Given the description of an element on the screen output the (x, y) to click on. 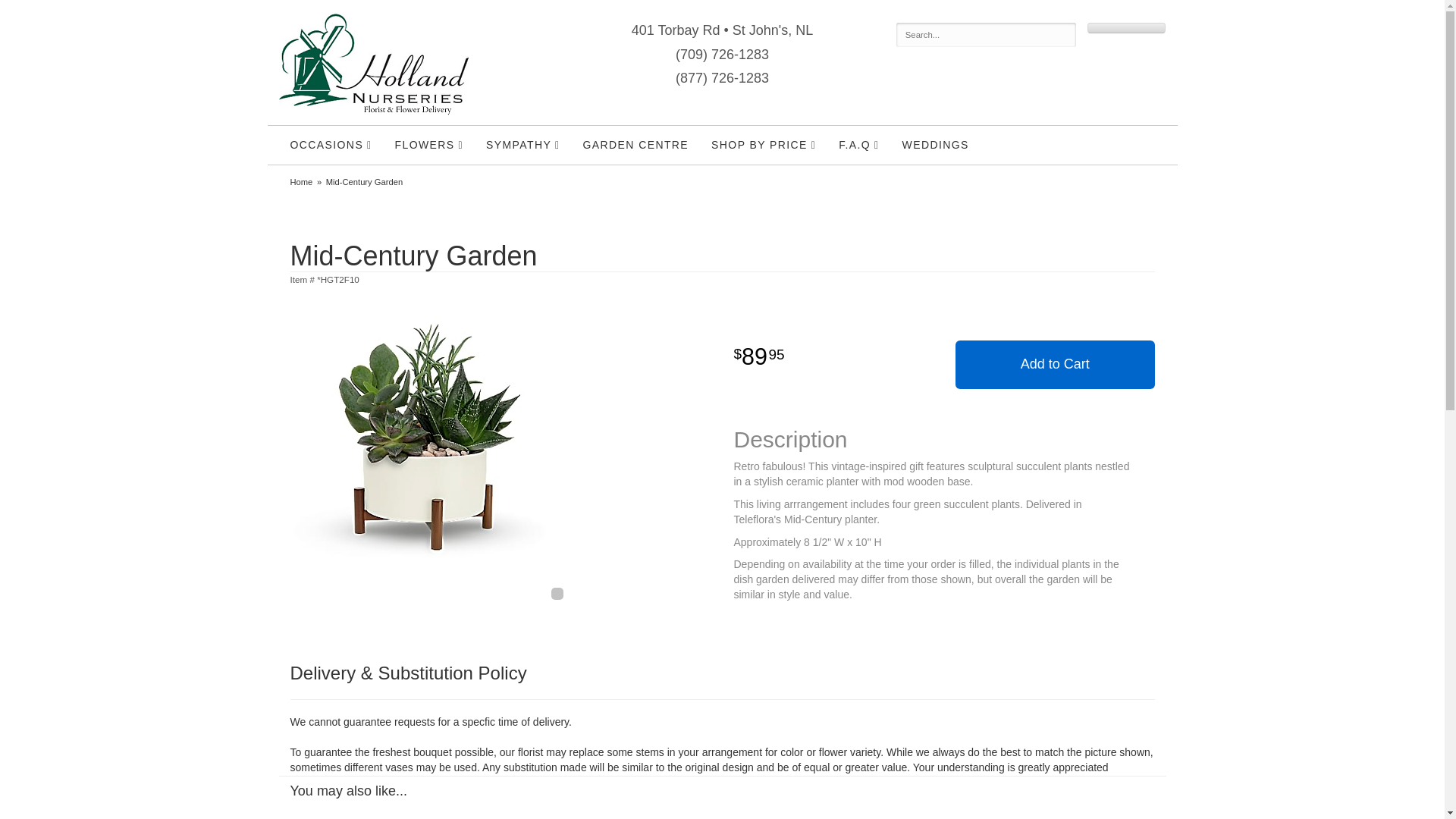
OCCASIONS (331, 145)
SHOP BY PRICE (763, 145)
FLOWERS (429, 145)
F.A.Q (858, 145)
GARDEN CENTRE (636, 144)
SYMPATHY (523, 145)
WEDDINGS (935, 144)
